Given the description of an element on the screen output the (x, y) to click on. 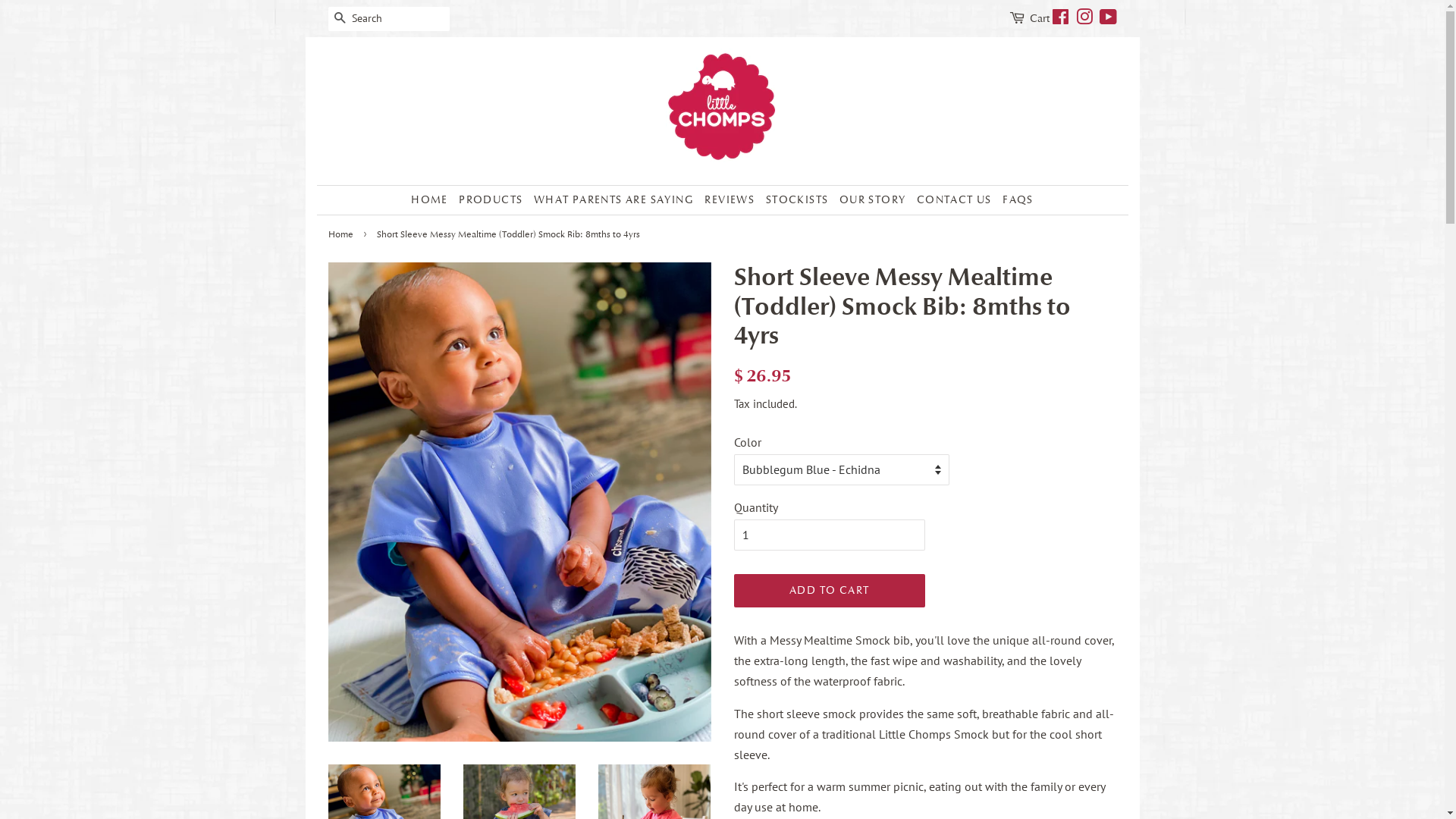
CONTACT US Element type: text (954, 199)
Cart Element type: text (1039, 18)
Facebook Element type: text (1059, 19)
Instagram Element type: text (1083, 19)
HOME Element type: text (431, 199)
Home Element type: text (341, 234)
YouTube Element type: text (1108, 19)
SEARCH Element type: text (339, 18)
REVIEWS Element type: text (729, 199)
STOCKISTS Element type: text (797, 199)
WHAT PARENTS ARE SAYING Element type: text (613, 199)
ADD TO CART Element type: text (829, 590)
FAQS Element type: text (1015, 199)
OUR STORY Element type: text (872, 199)
PRODUCTS Element type: text (490, 199)
